Given the description of an element on the screen output the (x, y) to click on. 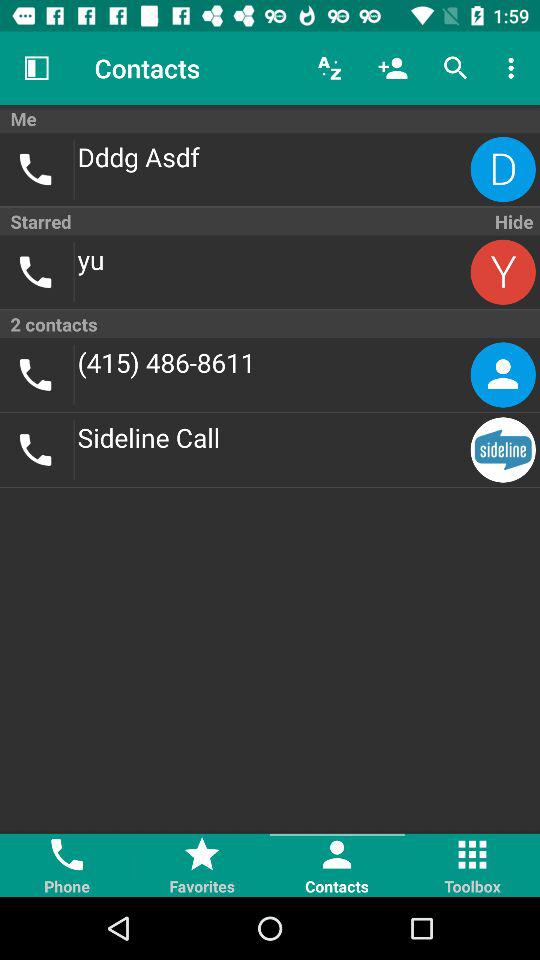
select item above the me (329, 67)
